Given the description of an element on the screen output the (x, y) to click on. 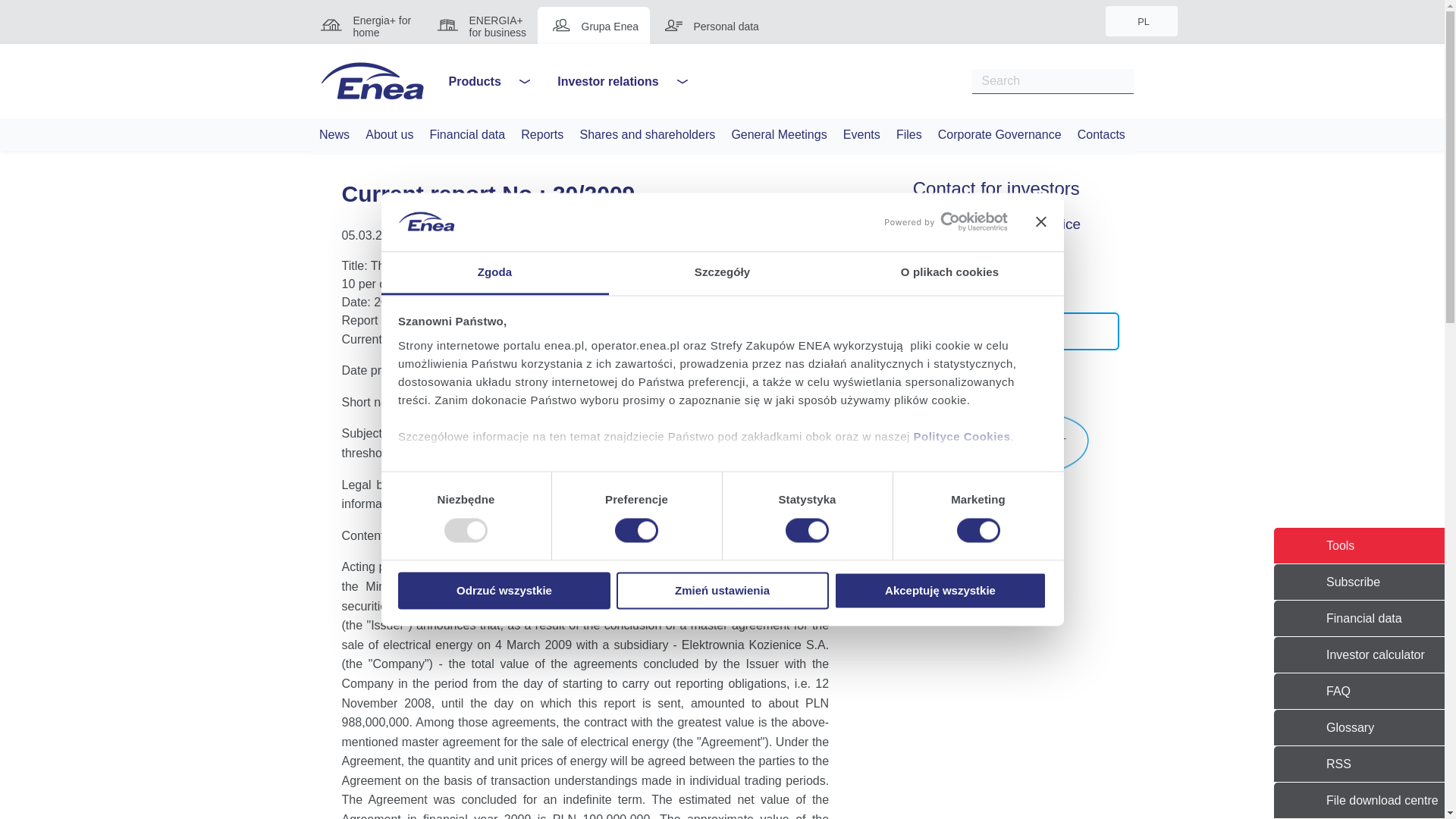
O plikach cookies (948, 272)
Zgoda (494, 272)
Polityce Cookies (961, 436)
ENEA (371, 81)
Enea (371, 80)
